Given the description of an element on the screen output the (x, y) to click on. 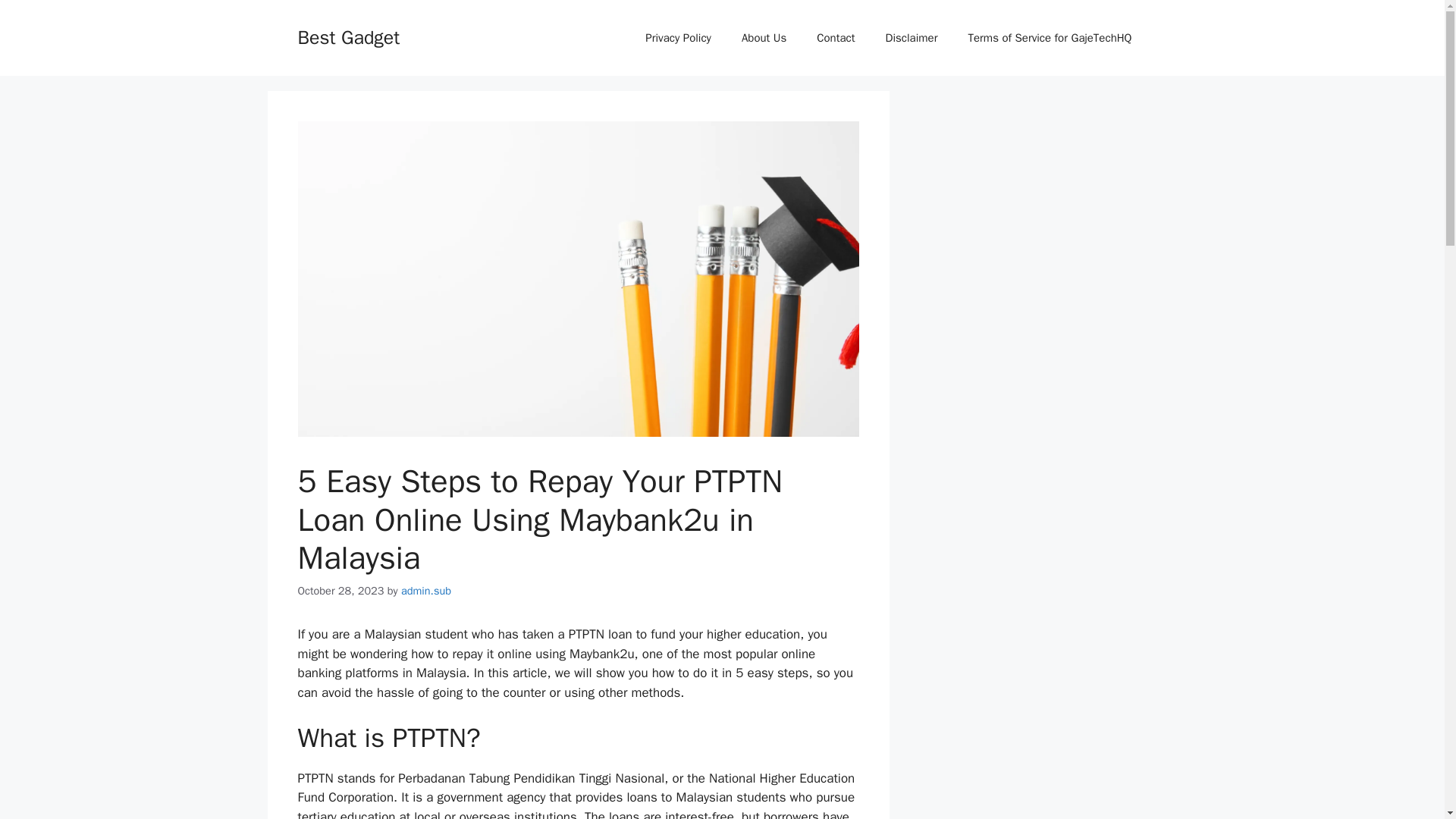
Privacy Policy (678, 37)
About Us (764, 37)
Best Gadget (347, 37)
Contact (835, 37)
View all posts by admin.sub (426, 590)
admin.sub (426, 590)
Disclaimer (911, 37)
Terms of Service for GajeTechHQ (1049, 37)
